Given the description of an element on the screen output the (x, y) to click on. 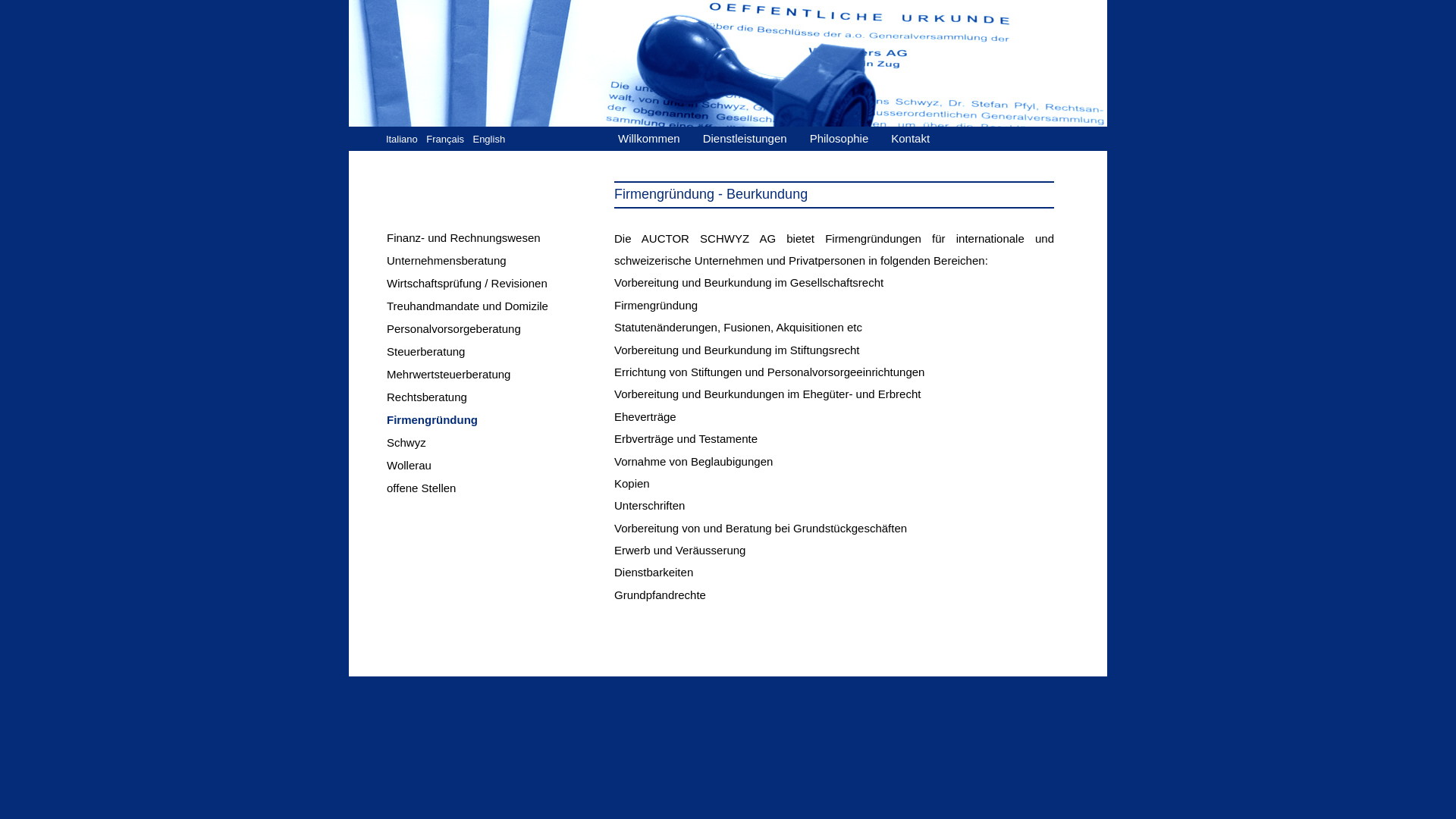
Rechtsberatung Element type: text (498, 396)
Mehrwertsteuerberatung Element type: text (498, 374)
English Element type: text (488, 138)
Steuerberatung Element type: text (498, 351)
Italiano Element type: text (402, 138)
Treuhandmandate und Domizile Element type: text (498, 305)
Dienstleistungen Element type: text (752, 137)
Kontakt Element type: text (917, 137)
Schwyz Element type: text (498, 442)
Willkommen Element type: text (656, 137)
Wollerau Element type: text (498, 465)
Unternehmensberatung Element type: text (498, 260)
Philosophie Element type: text (847, 137)
offene Stellen Element type: text (498, 487)
Finanz- und Rechnungswesen Element type: text (498, 237)
Personalvorsorgeberatung Element type: text (498, 328)
